Given the description of an element on the screen output the (x, y) to click on. 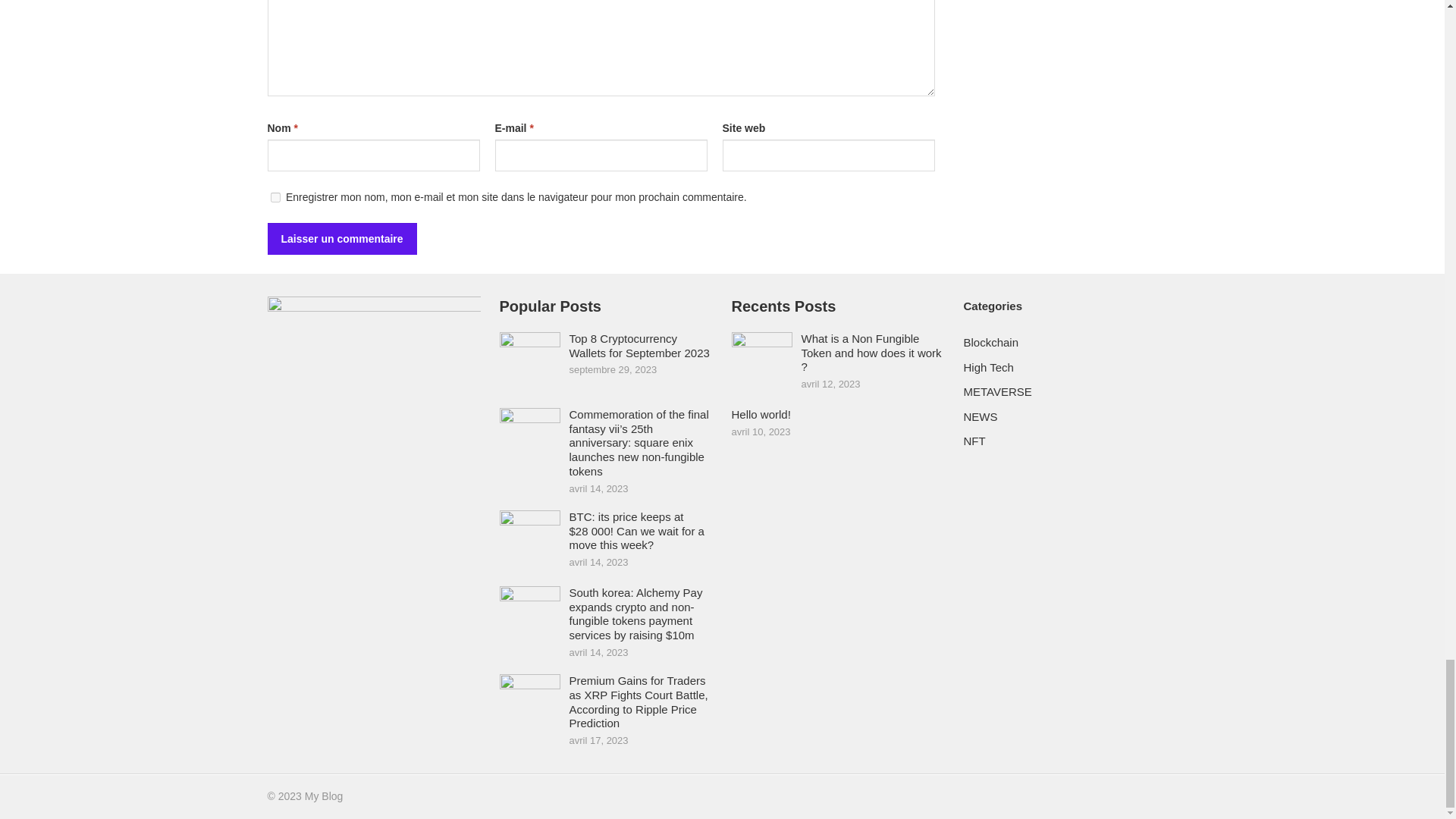
Laisser un commentaire (341, 238)
Laisser un commentaire (341, 238)
yes (274, 197)
